Given the description of an element on the screen output the (x, y) to click on. 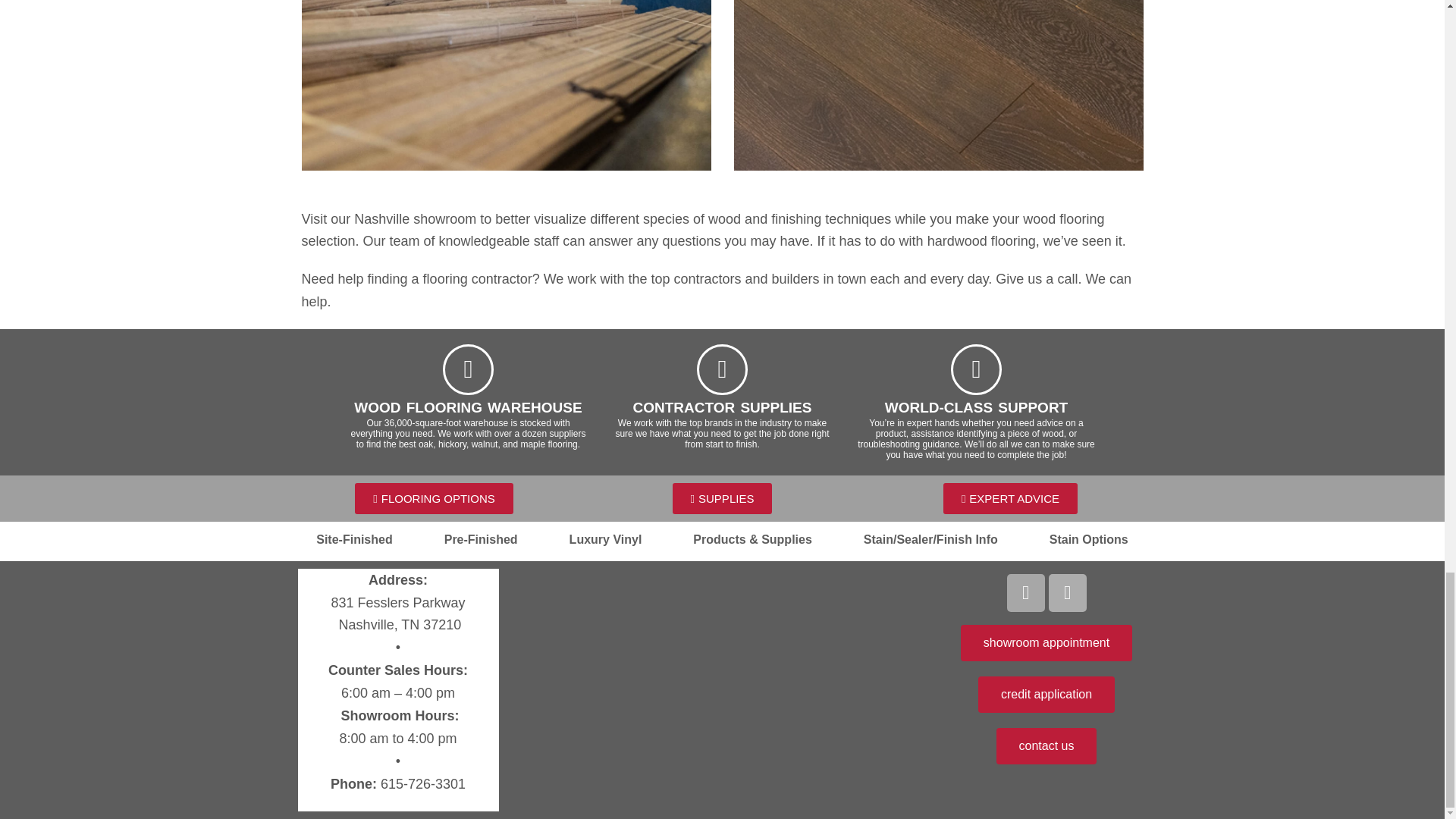
FLOORING OPTIONS (434, 498)
Stain Options (1088, 539)
contact us (1046, 746)
SUPPLIES (722, 498)
Pre-Finished (481, 539)
showroom appointment (1046, 642)
Site-Finished (353, 539)
831 Fesslers Parkway Nashville, TN 37210 (722, 682)
EXPERT ADVICE (1010, 498)
credit application (1046, 694)
Luxury Vinyl (605, 539)
